Given the description of an element on the screen output the (x, y) to click on. 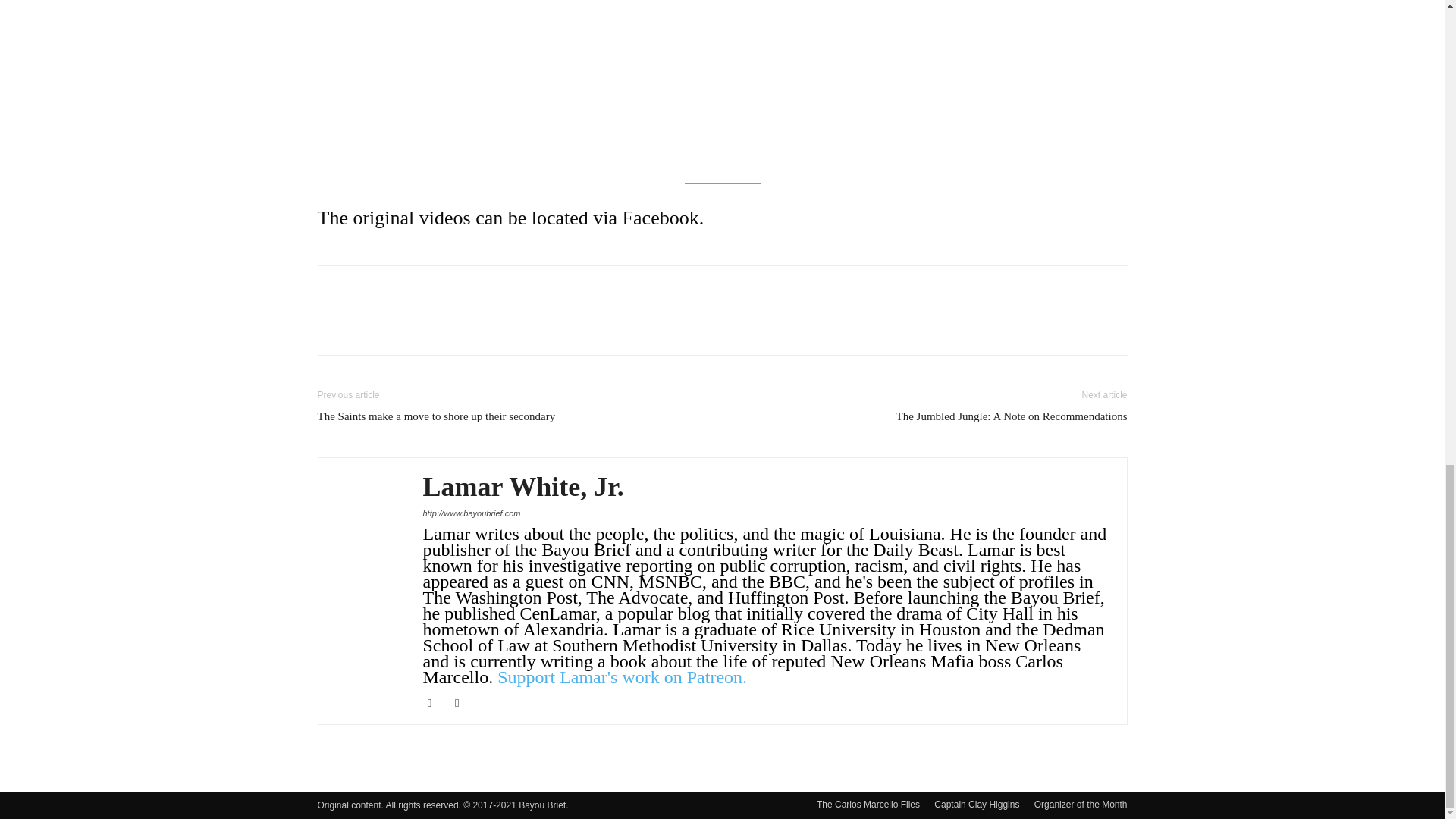
The Carlos Marcello Files (868, 804)
bottomFacebookLike (430, 289)
The Saints make a move to shore up their secondary (435, 416)
The Jumbled Jungle: A Note on Recommendations (1011, 416)
Lamar White, Jr. (523, 486)
Facebook (435, 702)
Support Lamar's work on Patreon. (621, 677)
Twitter (462, 702)
